Given the description of an element on the screen output the (x, y) to click on. 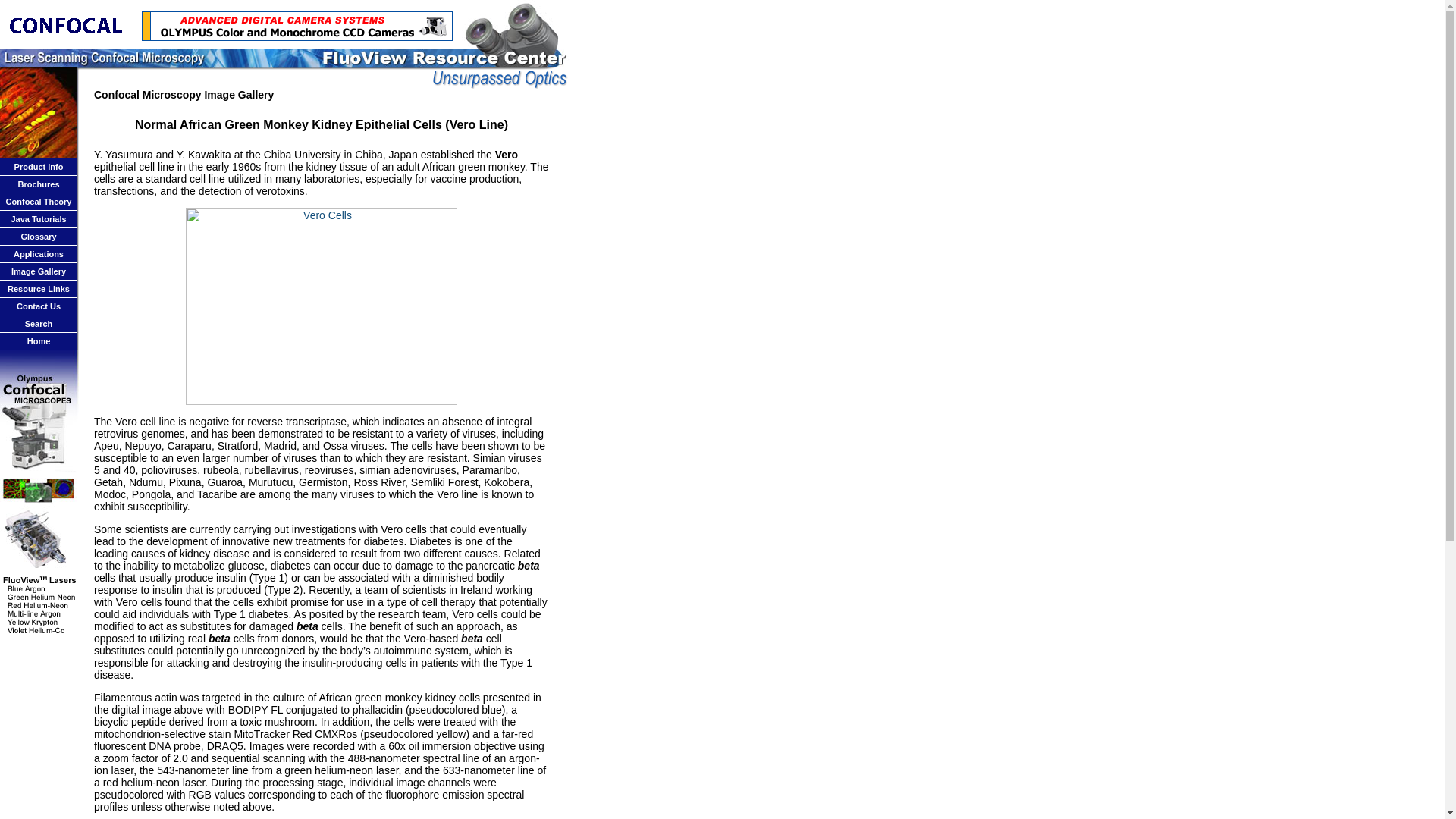
Resource Links (38, 288)
Glossary (38, 235)
Confocal Theory (38, 201)
Contact Us (38, 306)
Brochures (38, 184)
Search (38, 323)
Applications (38, 253)
Home (38, 340)
Java Tutorials (37, 218)
Image Gallery (38, 271)
Product Info (39, 166)
